Given the description of an element on the screen output the (x, y) to click on. 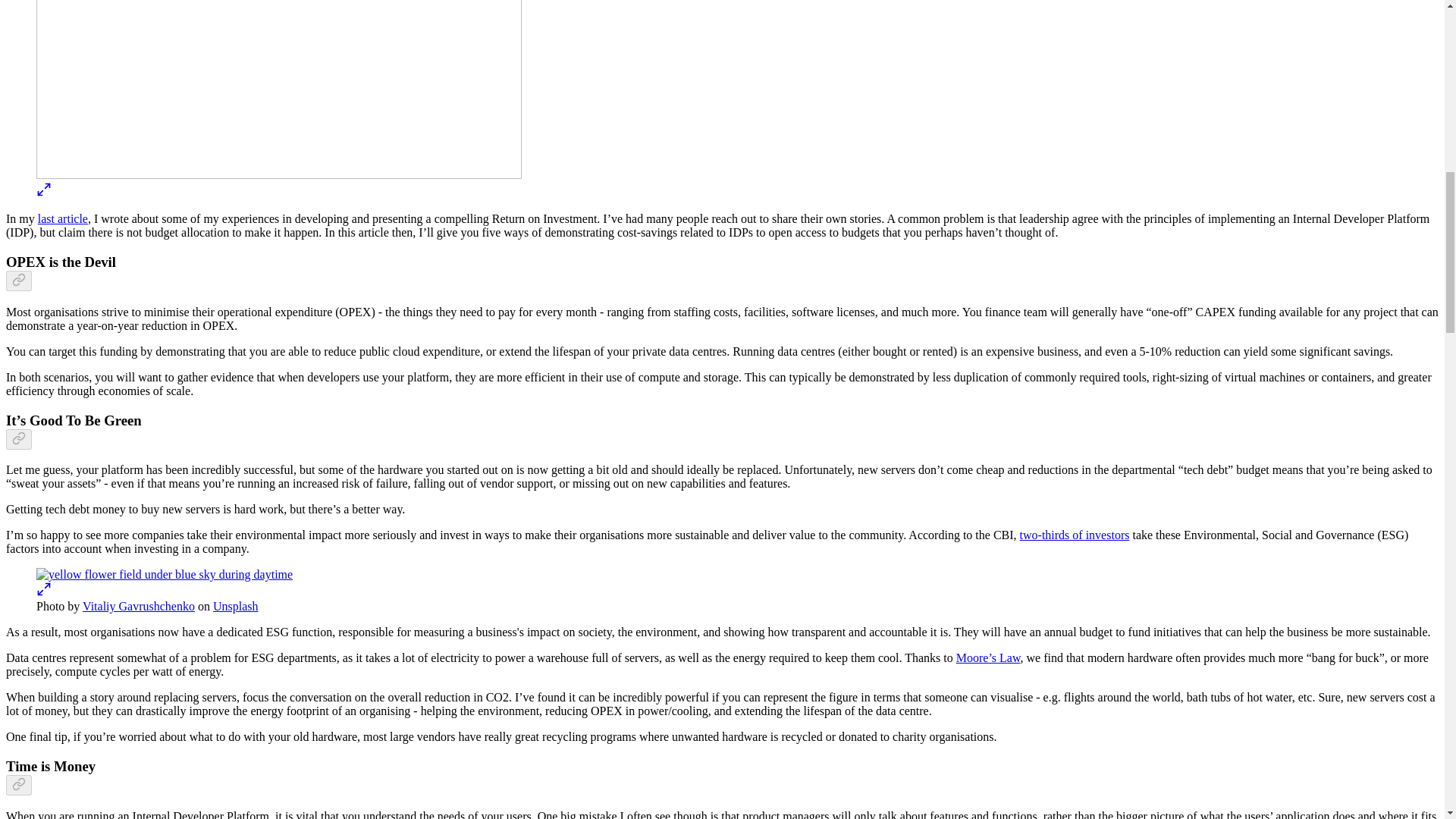
Vitaliy Gavrushchenko (138, 605)
last article (62, 218)
yellow flower field under blue sky during daytime (164, 574)
two-thirds of investors (1074, 534)
Unsplash (235, 605)
